Given the description of an element on the screen output the (x, y) to click on. 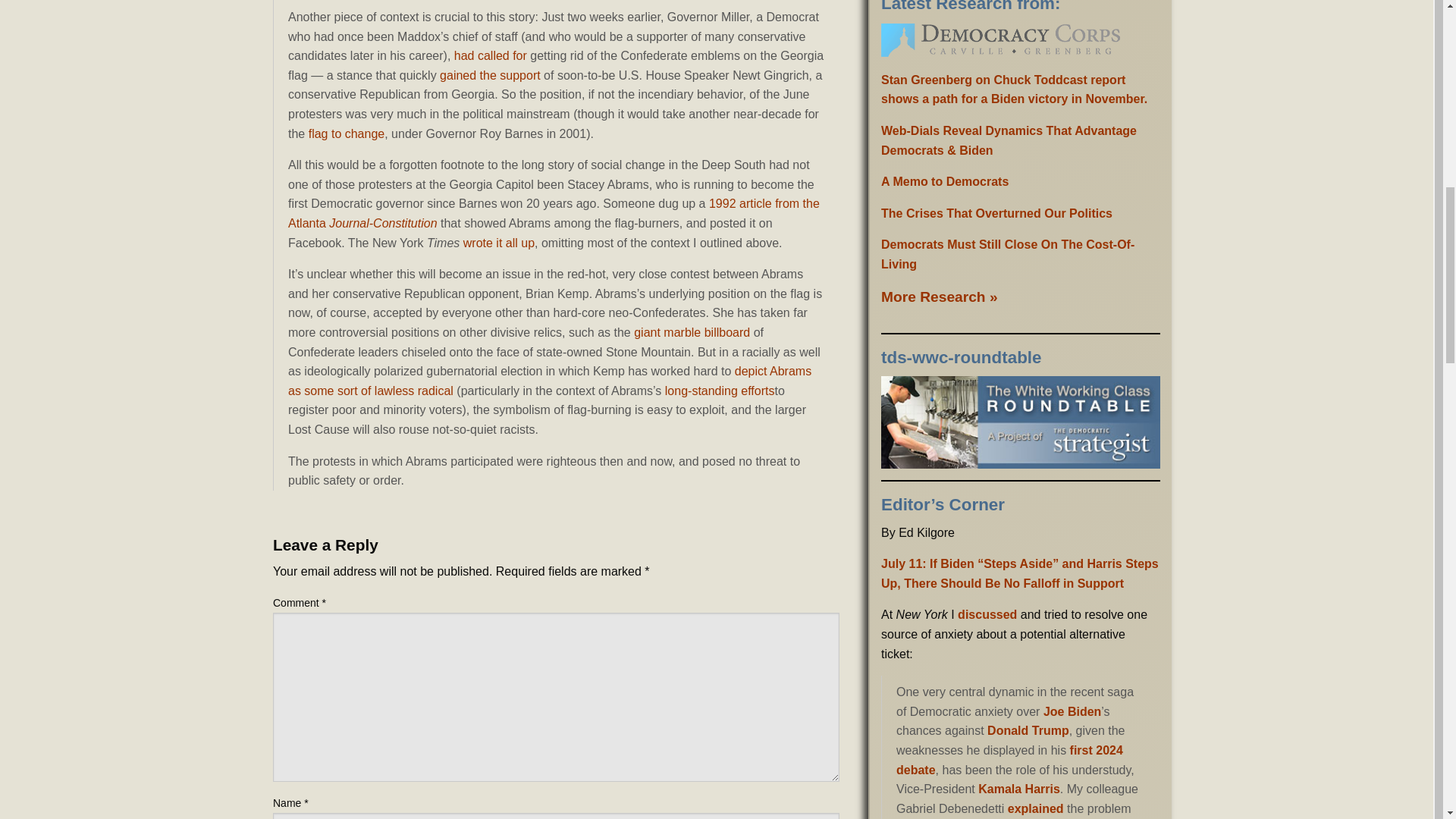
long-standing efforts (719, 390)
had called for (490, 55)
A Memo to Democrats (944, 181)
flag to change (346, 133)
1992 article from the Atlanta Journal-Constitution (553, 213)
wrote it all up (498, 242)
giant marble billboard (691, 332)
gained the support (489, 74)
depict Abrams as some sort of lawless radical (549, 380)
